Given the description of an element on the screen output the (x, y) to click on. 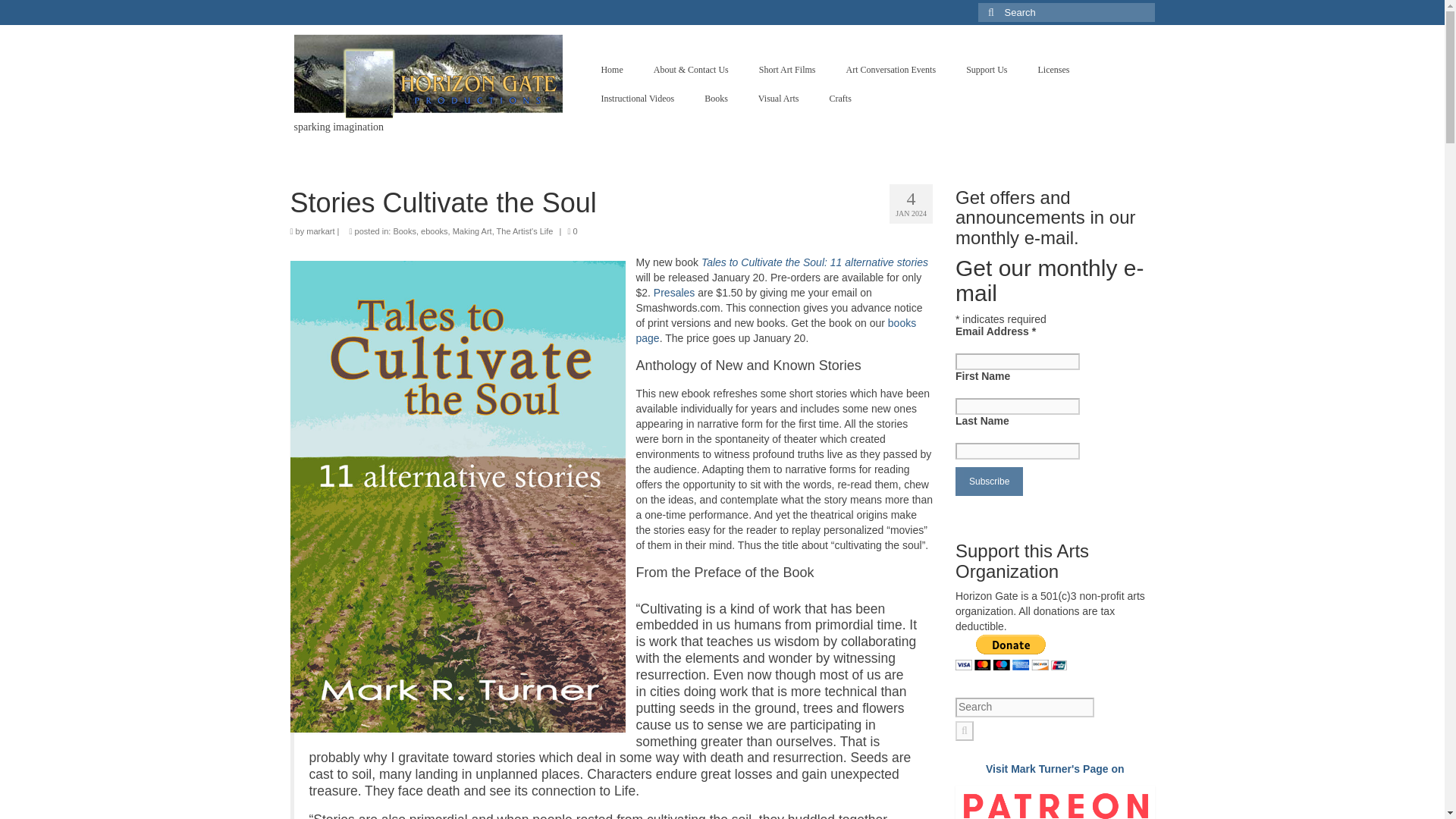
Support Us (986, 69)
Crafts (839, 98)
Presales (673, 292)
Books (715, 98)
Subscribe (989, 481)
markart (319, 230)
Licenses (1053, 69)
Books (404, 230)
ebooks (433, 230)
Making Art (472, 230)
Tales to Cultivate the Soul: 11 alternative stories (814, 262)
Home (611, 69)
The Artist's Life (524, 230)
Art Conversation Events (889, 69)
Instructional Videos (636, 98)
